Given the description of an element on the screen output the (x, y) to click on. 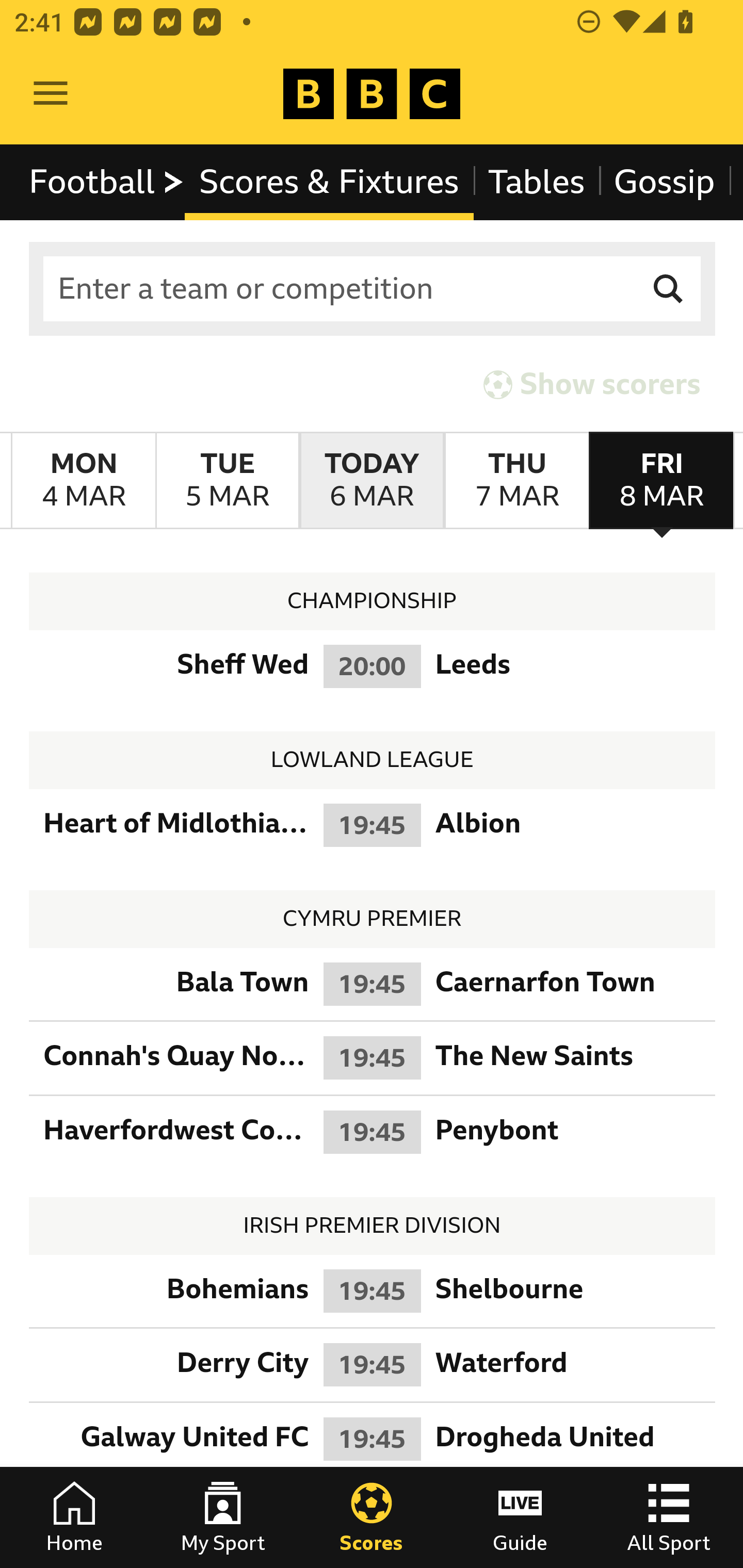
Open Menu (50, 93)
Football  (106, 181)
Scores & Fixtures (329, 181)
Tables (536, 181)
Gossip (664, 181)
Search (669, 289)
Show scorers (591, 383)
MondayMarch 4th Monday March 4th (83, 480)
TuesdayMarch 5th Tuesday March 5th (227, 480)
TodayMarch 6th Today March 6th (371, 480)
ThursdayMarch 7th Thursday March 7th (516, 480)
FridayMarch 8th, Selected Friday March 8th (661, 480)
Home (74, 1517)
My Sport (222, 1517)
Guide (519, 1517)
All Sport (668, 1517)
